Given the description of an element on the screen output the (x, y) to click on. 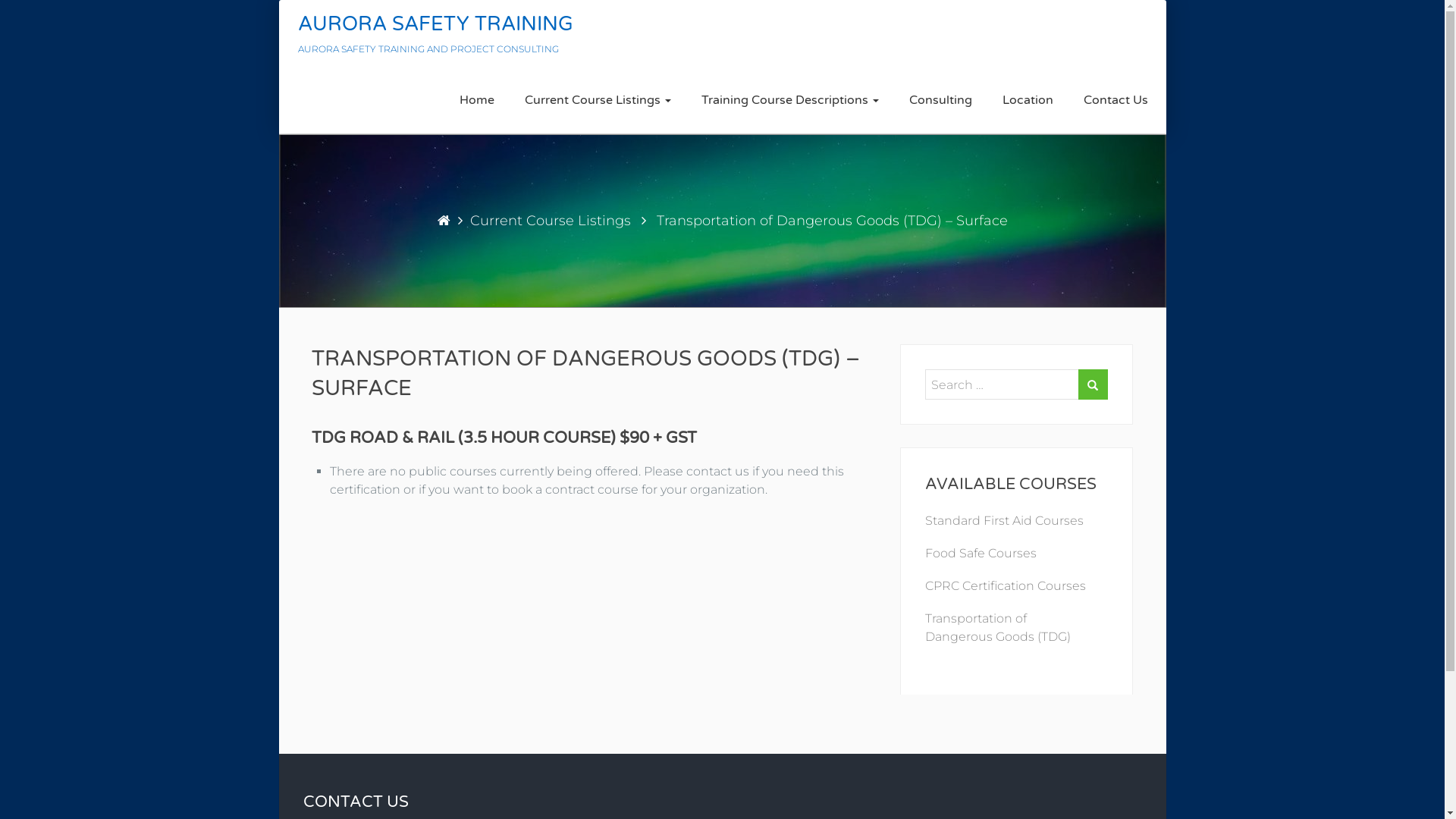
Location Element type: text (1026, 99)
Transportation of Dangerous Goods (TDG) Element type: text (997, 627)
Contact Us Element type: text (1115, 99)
Consulting Element type: text (940, 99)
Food Safe Courses Element type: text (980, 553)
Training Course Descriptions Element type: text (789, 99)
CPRC Certification Courses Element type: text (1005, 585)
AURORA SAFETY TRAINING Element type: text (434, 23)
Standard First Aid Courses Element type: text (1004, 519)
Current Course Listings Element type: text (597, 99)
Home Element type: text (475, 99)
Current Course Listings Element type: text (546, 220)
